Given the description of an element on the screen output the (x, y) to click on. 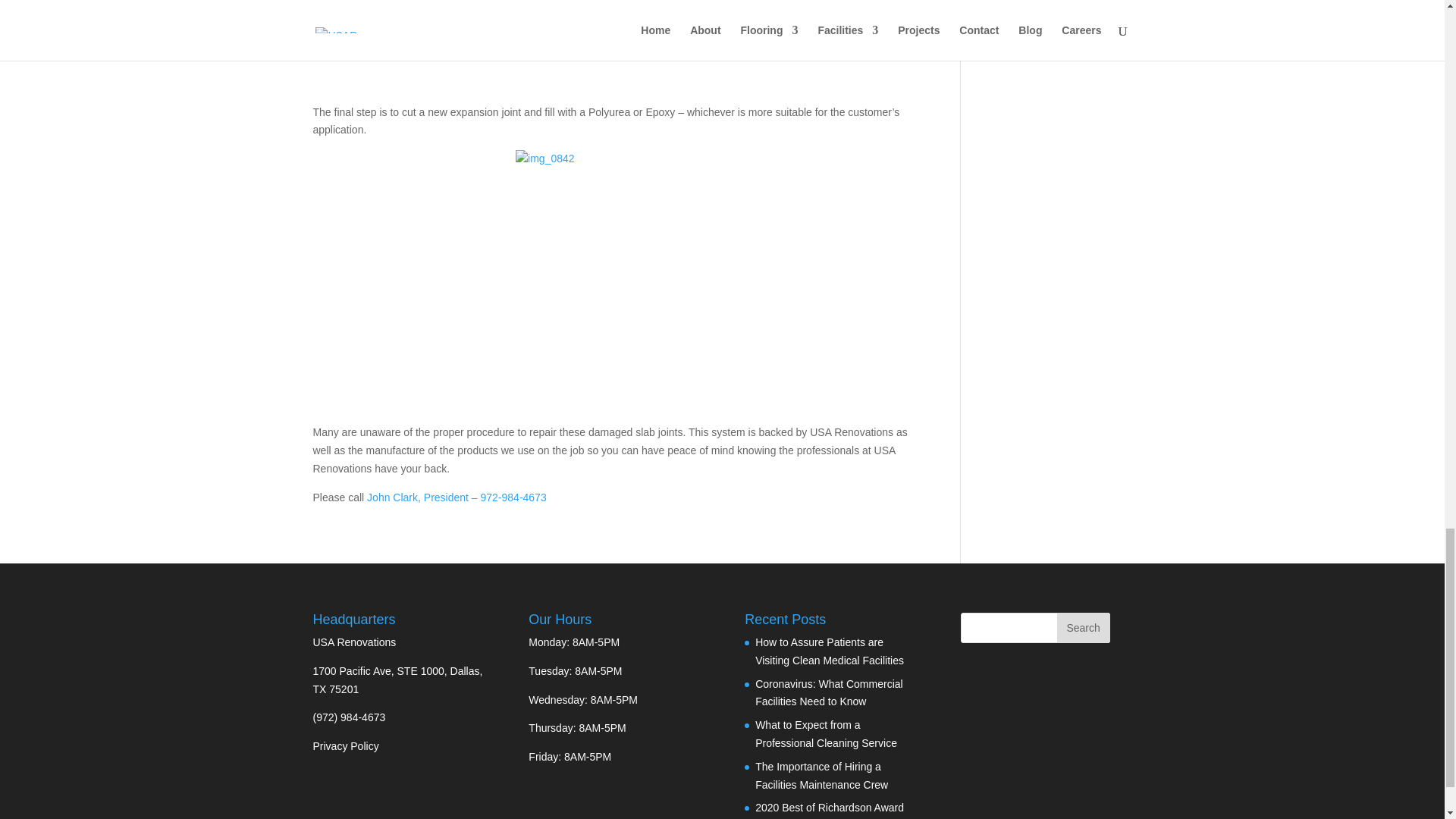
Call via Hangouts (349, 717)
How to Assure Patients are Visiting Clean Medical Facilities (829, 651)
Privacy Policy (345, 746)
Search (1083, 627)
